Given the description of an element on the screen output the (x, y) to click on. 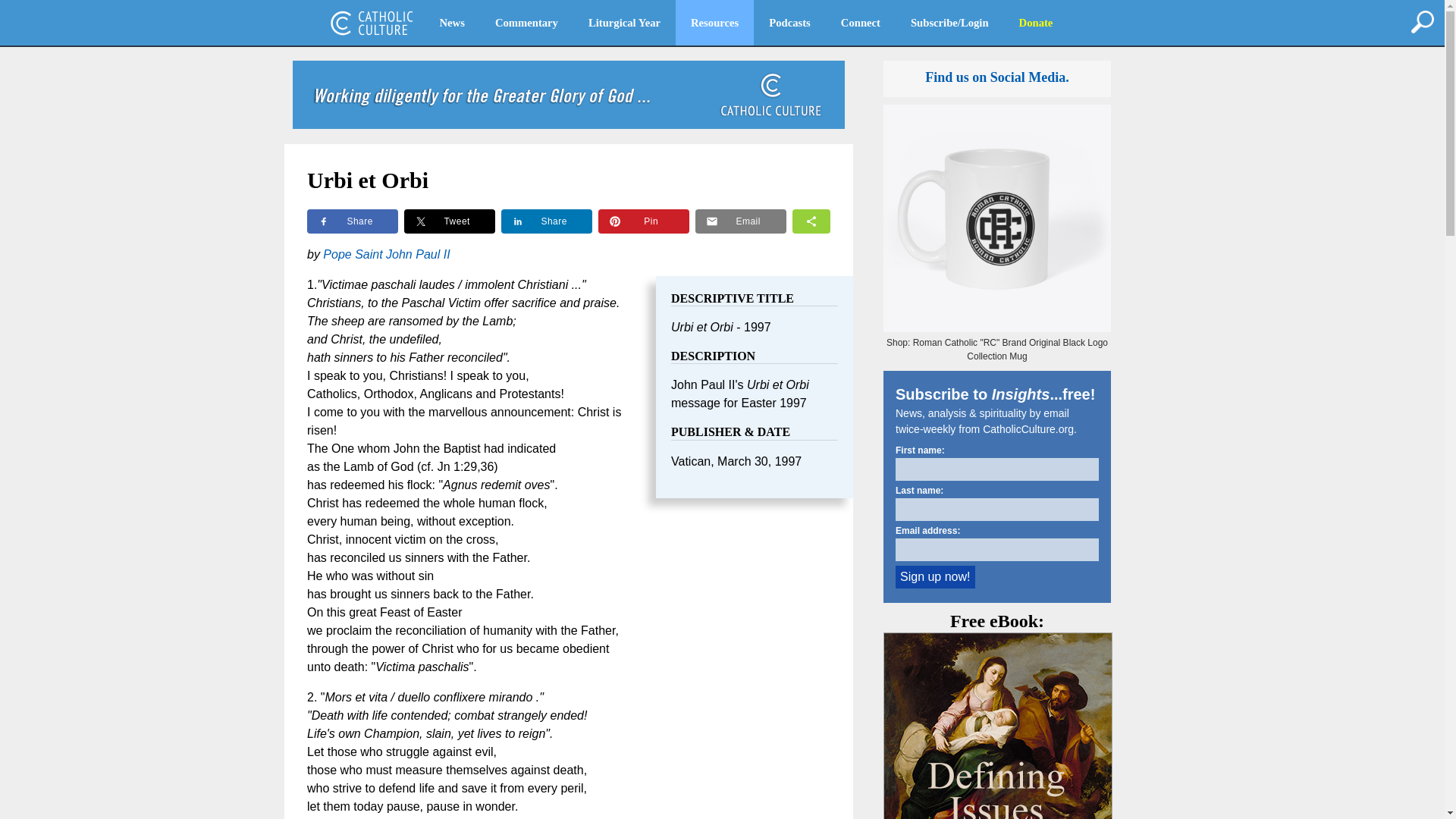
CatholicCulture.org (371, 22)
Commentary (526, 22)
Resources (714, 22)
Sign up now! (935, 576)
Liturgical Year (624, 22)
Podcasts (789, 22)
News (452, 22)
